Given the description of an element on the screen output the (x, y) to click on. 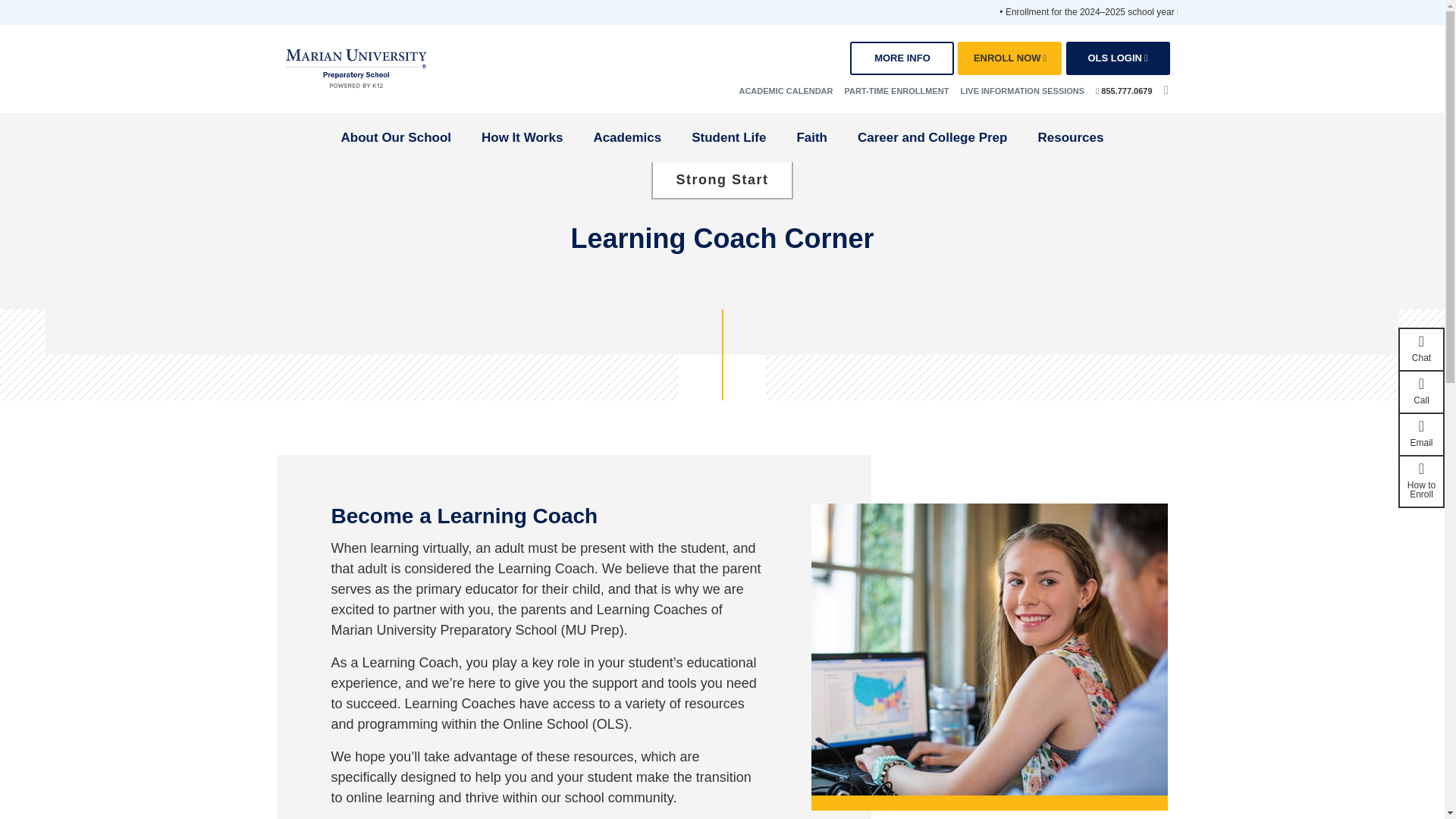
About Our School (395, 137)
How It Works (521, 137)
MORE INFO (901, 58)
OLS LOGIN (1117, 58)
Marian University Prep School (355, 68)
OLS LOGIN (1117, 58)
ENROLL NOW (1009, 58)
LIVE INFORMATION SESSIONS (1022, 90)
Lead Form Modal (901, 58)
PART-TIME ENROLLMENT (896, 90)
ACADEMIC CALENDAR (785, 90)
